Given the description of an element on the screen output the (x, y) to click on. 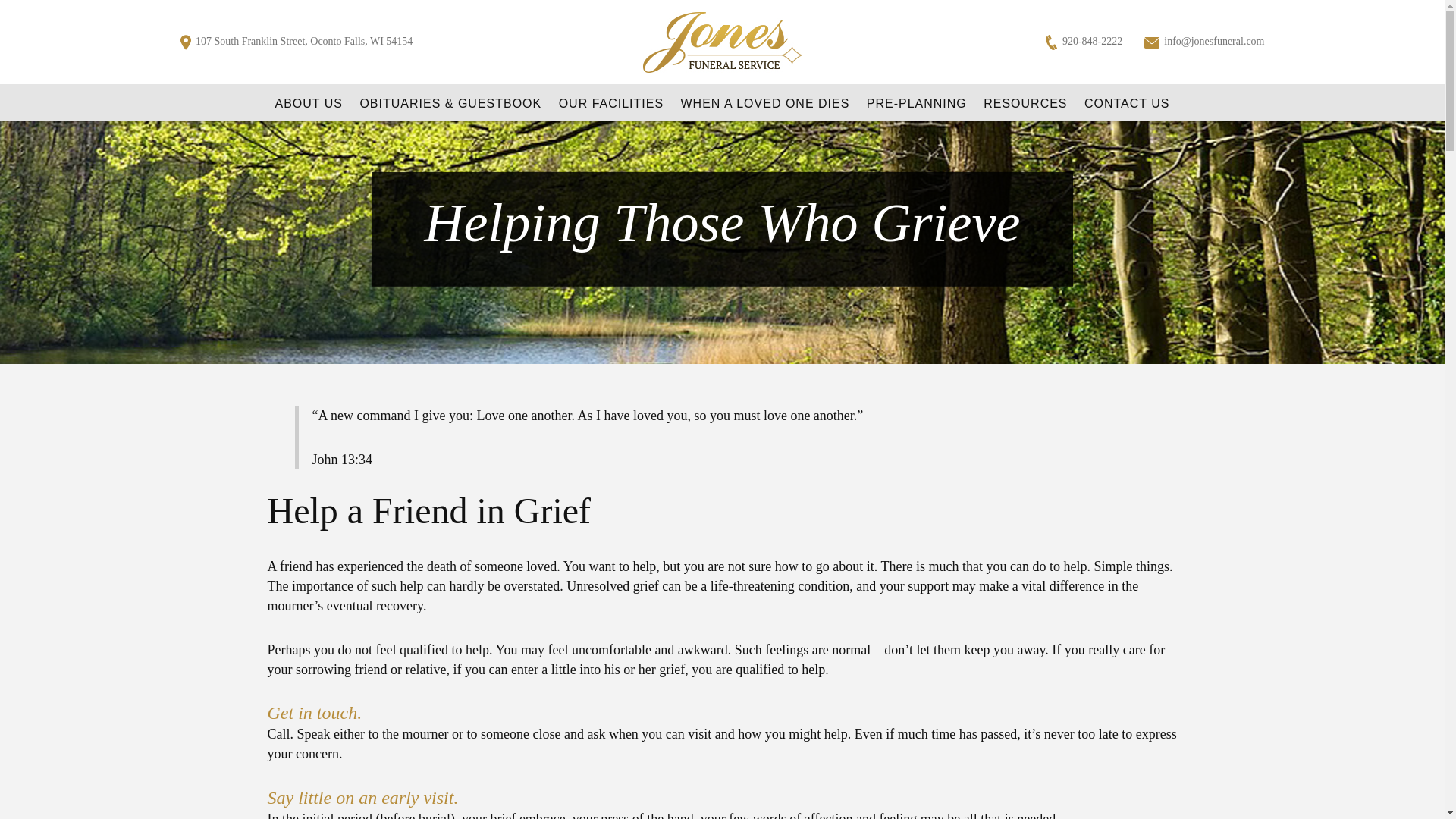
ABOUT US (308, 104)
CONTACT US (1127, 104)
RESOURCES (1025, 104)
GPS 107 South Franklin Street, Oconto Falls, WI 54154 (296, 41)
Phone 920-848-2222 (1084, 41)
PRE-PLANNING (916, 104)
OUR FACILITIES (611, 104)
WHEN A LOVED ONE DIES (765, 104)
